Given the description of an element on the screen output the (x, y) to click on. 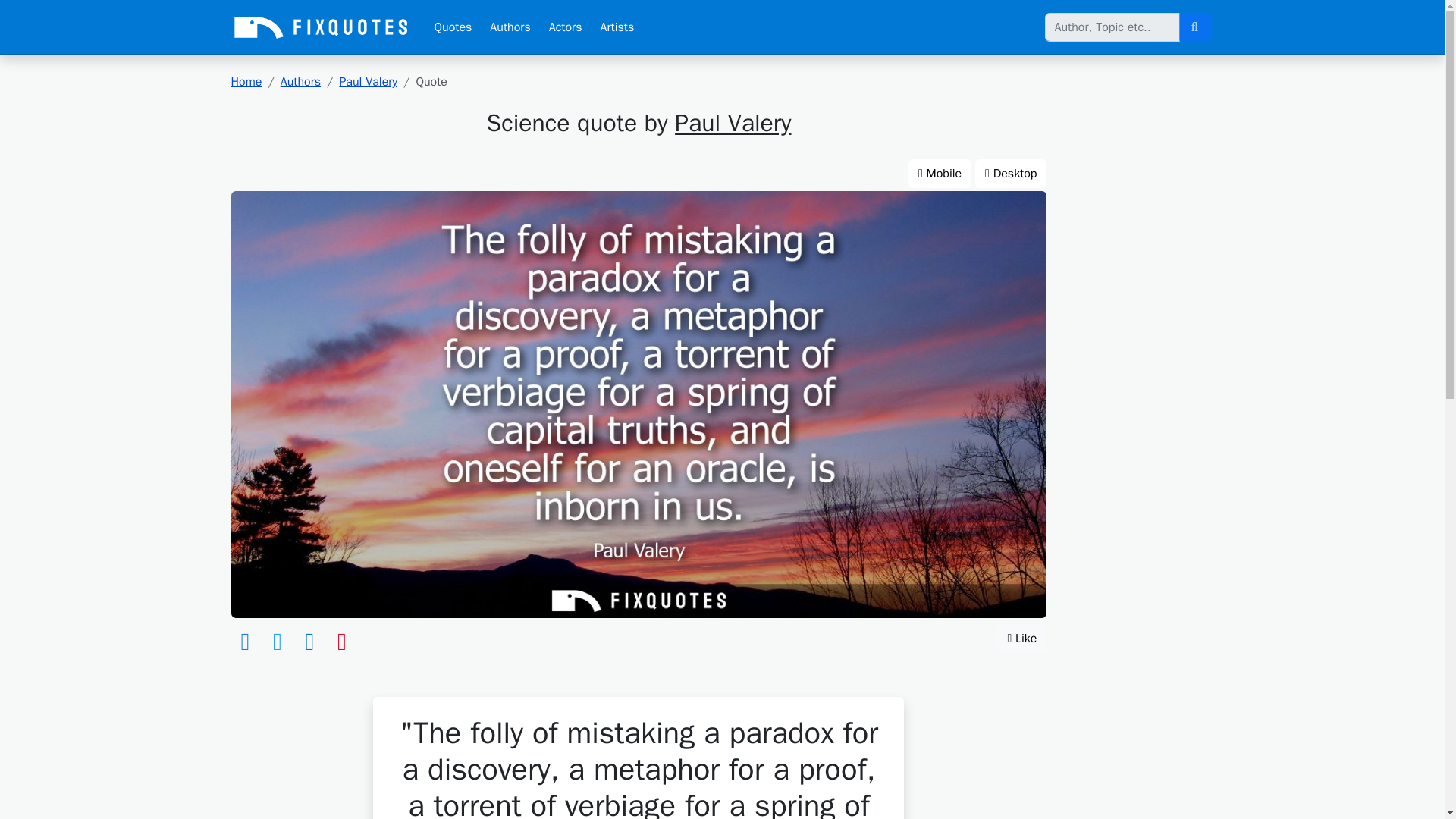
Quotes (452, 27)
Authors (300, 81)
Paul Valery (368, 81)
Paul Valery (732, 122)
Authors (509, 27)
Home (246, 81)
Vote on the best quotes (1021, 638)
Click to search (1193, 26)
Mobile (939, 173)
